Given the description of an element on the screen output the (x, y) to click on. 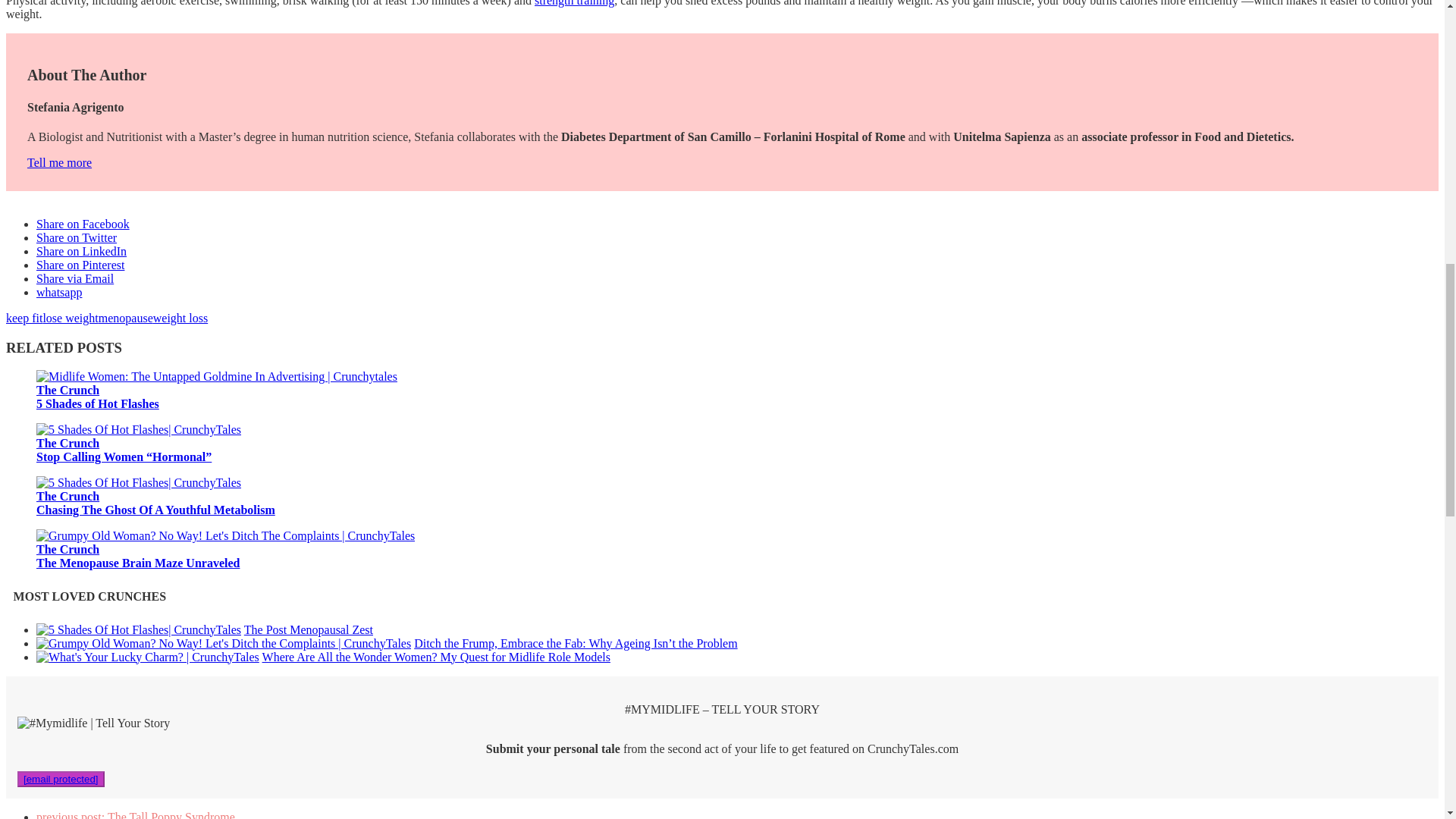
5 Shades of Hot Flashes (216, 376)
Share on Twitter (76, 237)
keep fit (23, 318)
Tell me more (59, 162)
Share via Email (74, 278)
The Menopause Brain Maze Unraveled (225, 535)
strength training (574, 3)
Share on Facebook (82, 223)
Chasing The Ghost Of A Youthful Metabolism (138, 481)
Share on LinkedIn (81, 250)
